Given the description of an element on the screen output the (x, y) to click on. 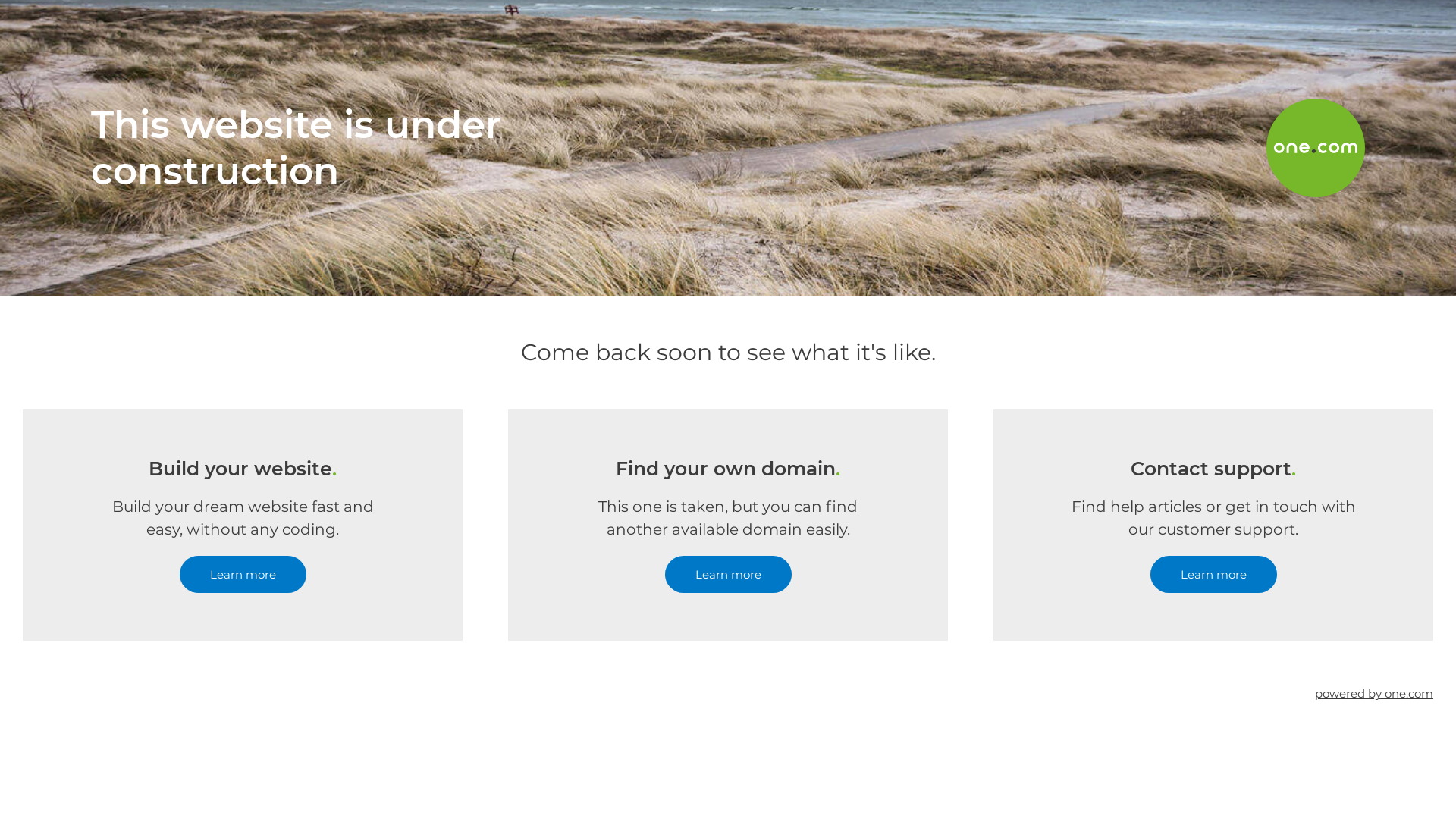
Learn more Element type: text (241, 574)
Learn more Element type: text (1212, 574)
powered by one.com Element type: text (1373, 693)
Learn more Element type: text (727, 574)
